Given the description of an element on the screen output the (x, y) to click on. 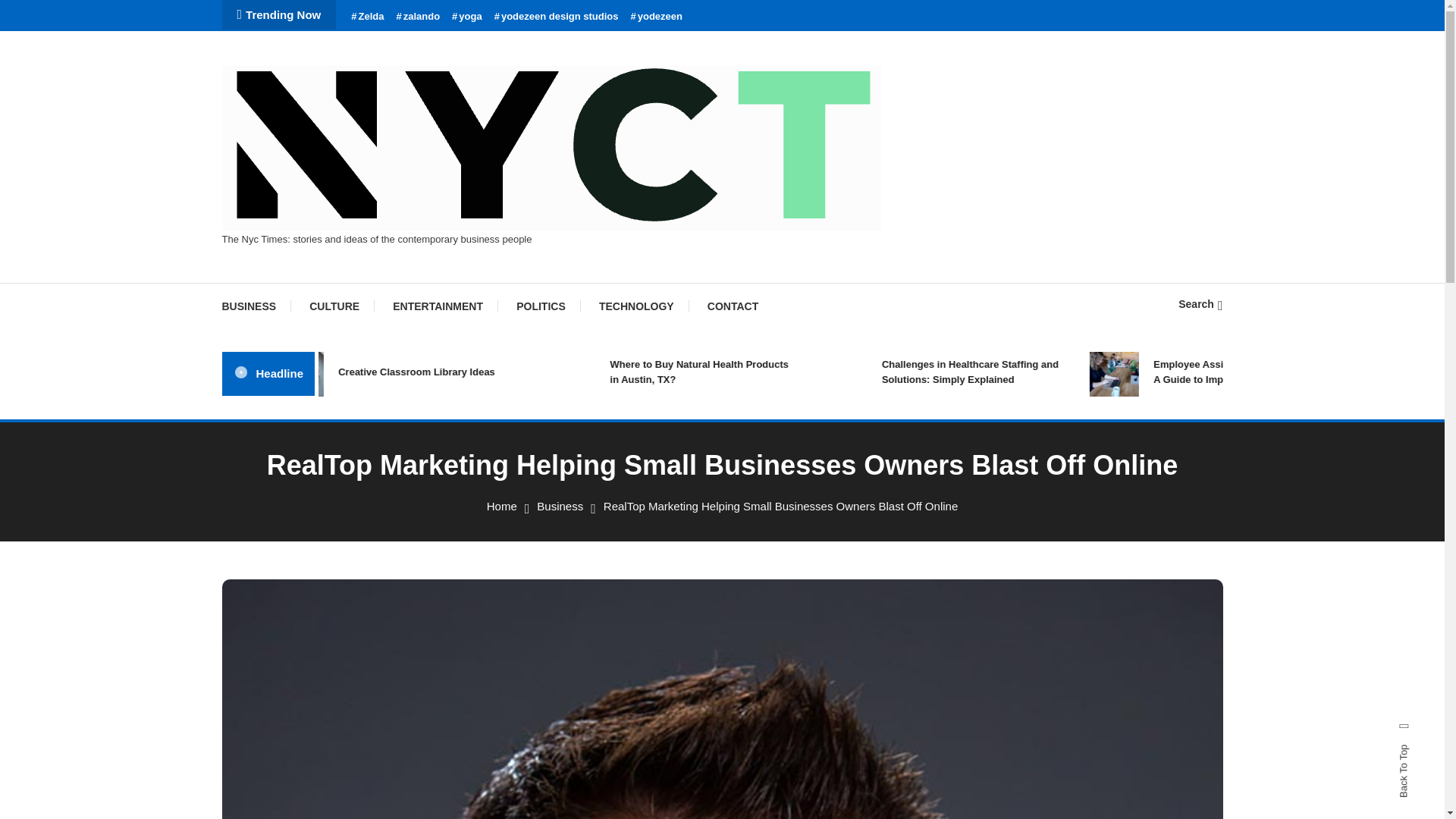
Search (1200, 304)
yodezeen (656, 16)
POLITICS (540, 306)
Zelda (367, 16)
Home (501, 505)
Business (560, 505)
yoga (466, 16)
zalando (417, 16)
Where to Buy Natural Health Products in Austin, TX? (748, 372)
TECHNOLOGY (635, 306)
